Given the description of an element on the screen output the (x, y) to click on. 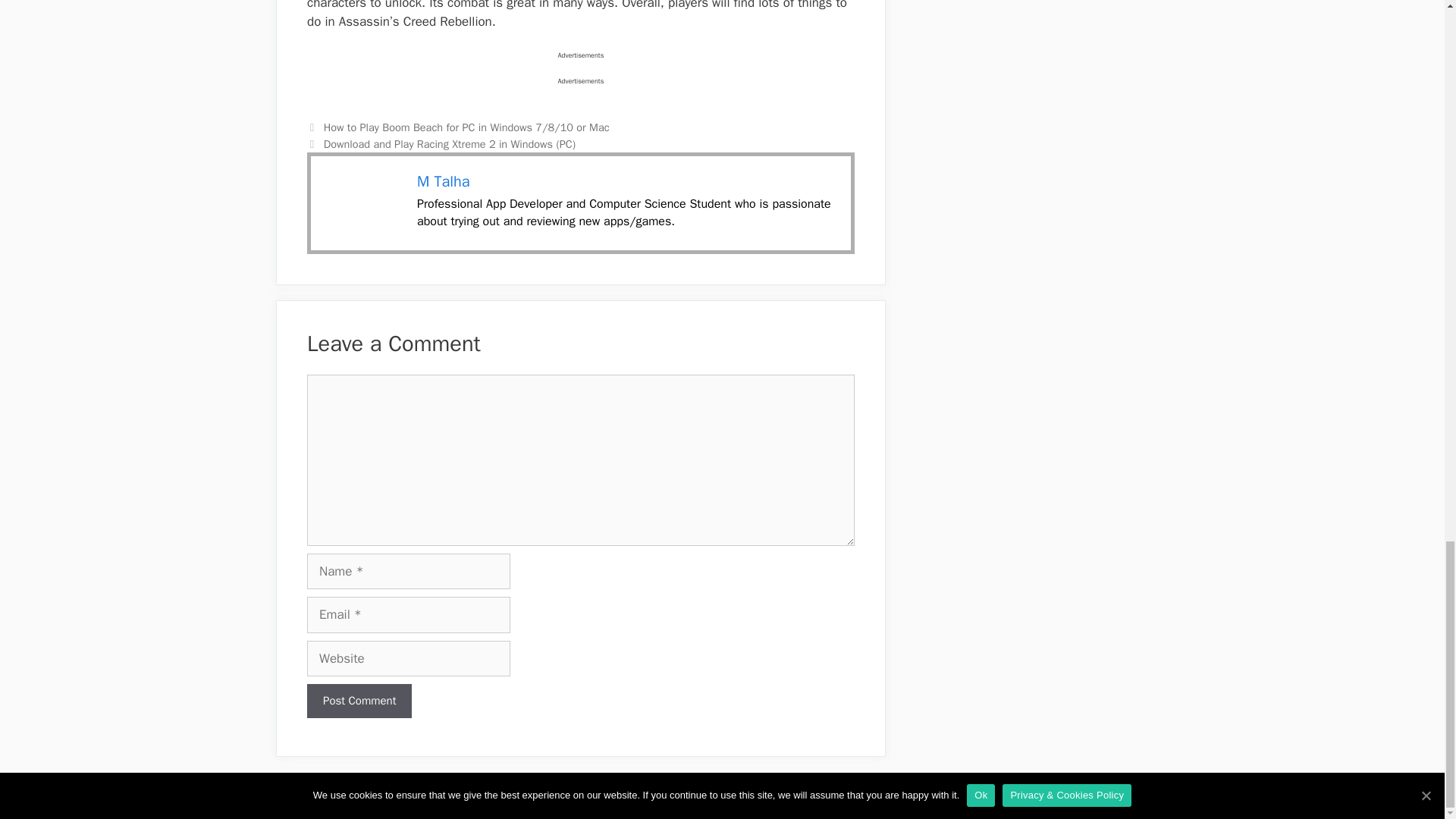
Sitemap (1098, 795)
Contact (1150, 795)
Post Comment (359, 700)
M Talha (443, 180)
About (923, 795)
Previous (458, 127)
Next (441, 143)
Post Comment (359, 700)
